Given the description of an element on the screen output the (x, y) to click on. 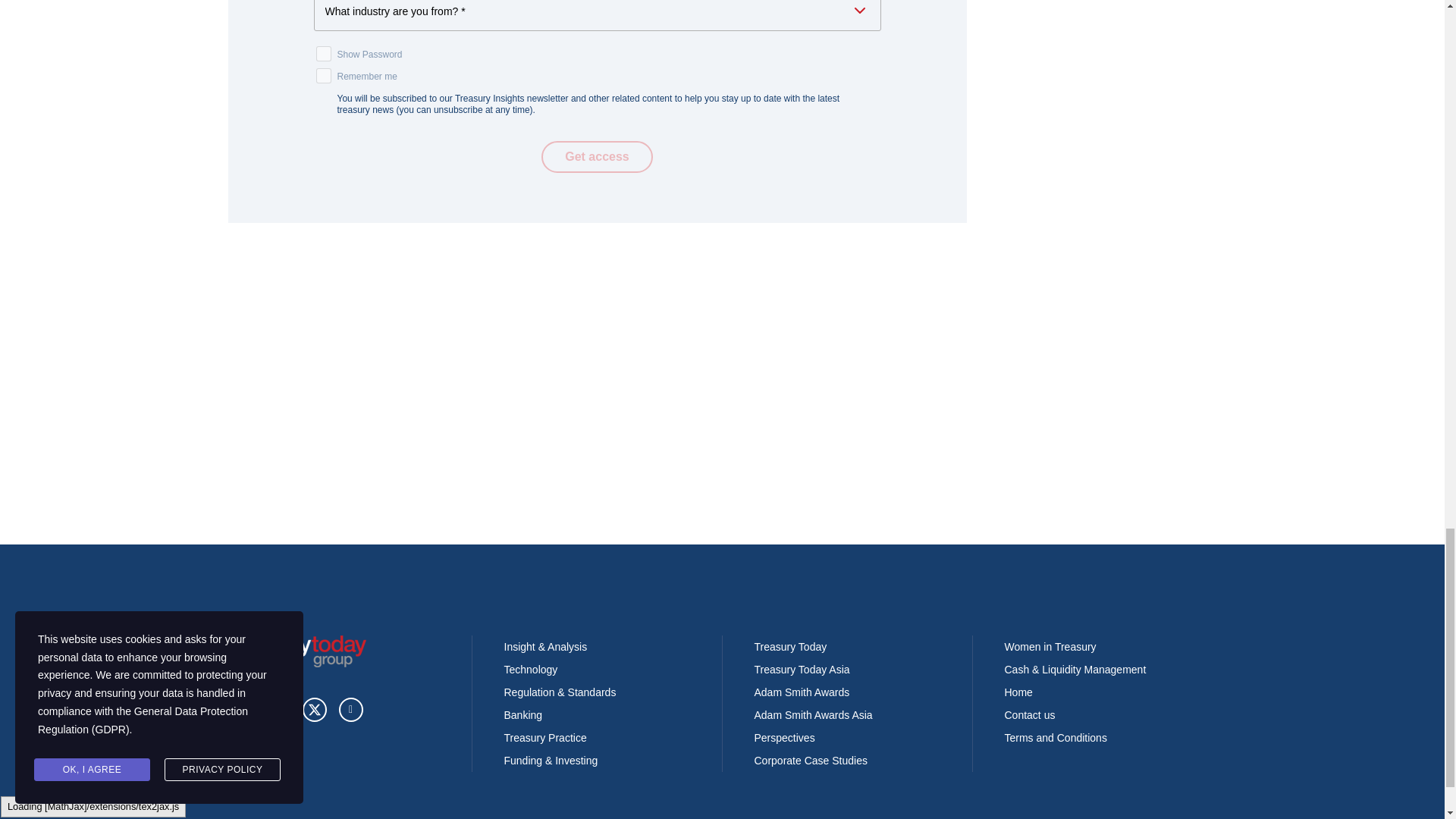
on (322, 53)
on (322, 75)
3rd party ad content (596, 445)
